Given the description of an element on the screen output the (x, y) to click on. 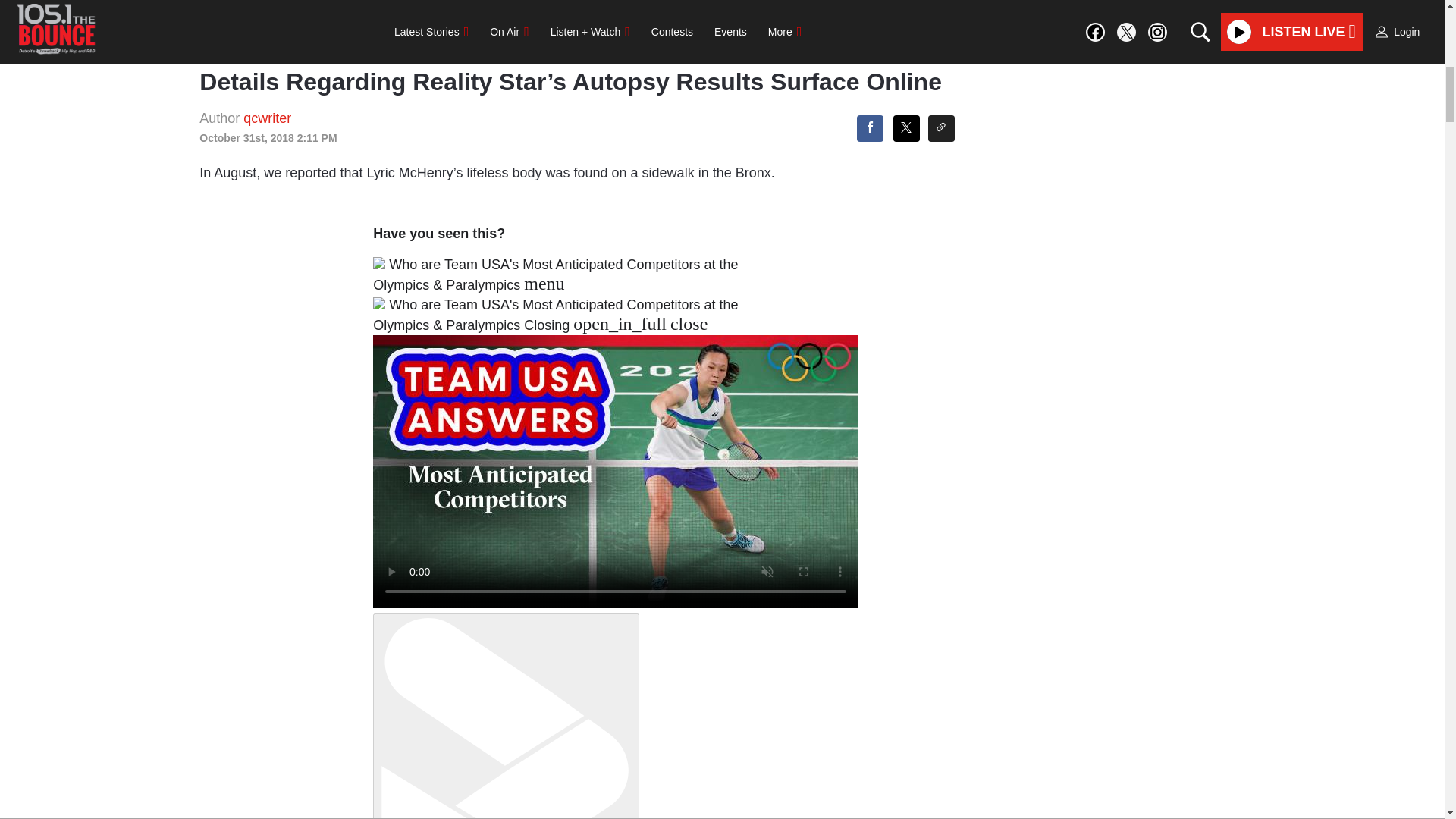
Close AdCheckmark indicating ad close (1434, 11)
qcwriter (267, 118)
